Given the description of an element on the screen output the (x, y) to click on. 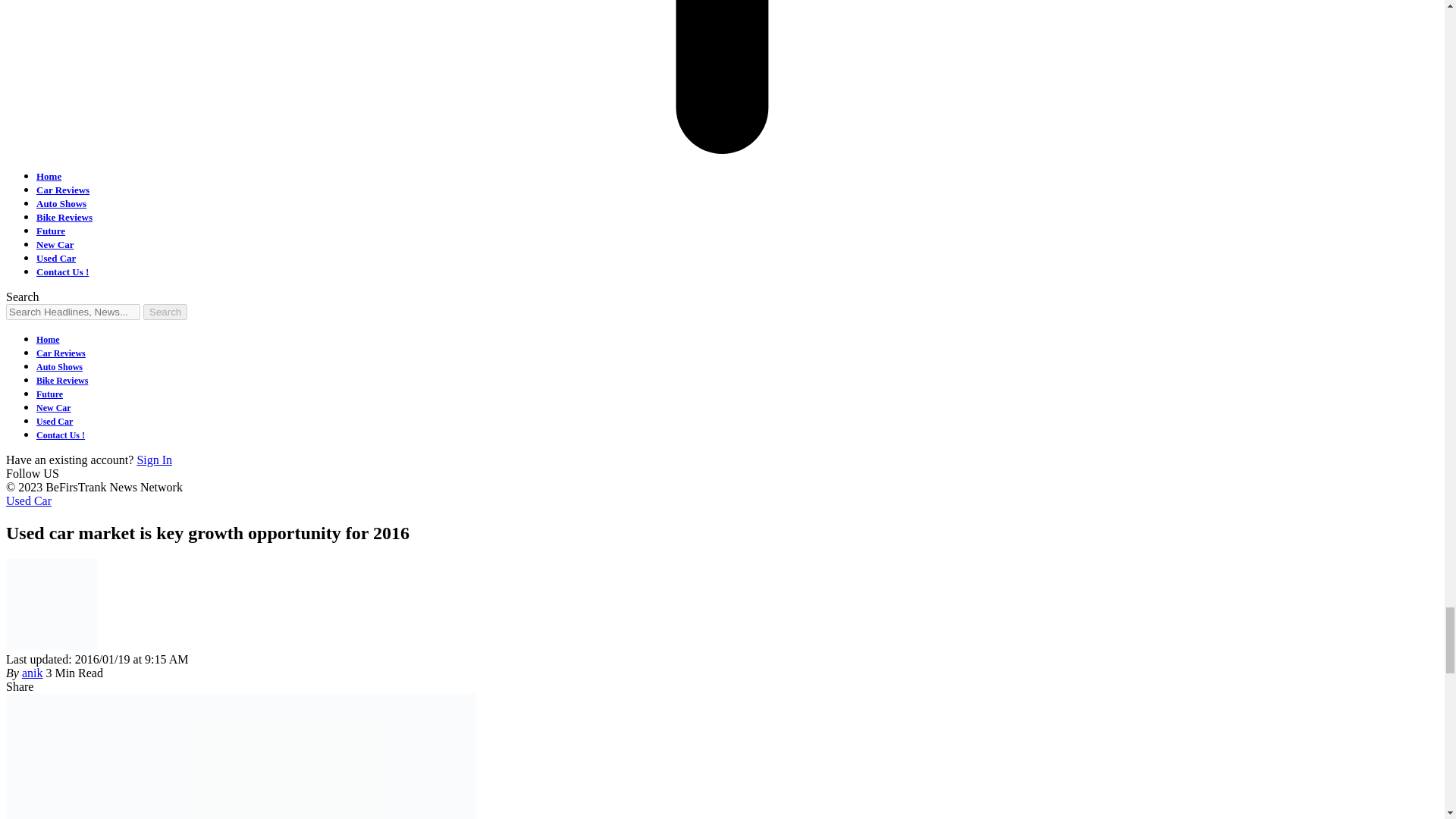
Bike Reviews (64, 216)
Auto Shows (59, 366)
Home (48, 175)
Search (164, 311)
Search (164, 311)
Auto Shows (60, 203)
Used Car (55, 257)
Car Reviews (62, 189)
Car Reviews (60, 353)
New Car (53, 407)
